Given the description of an element on the screen output the (x, y) to click on. 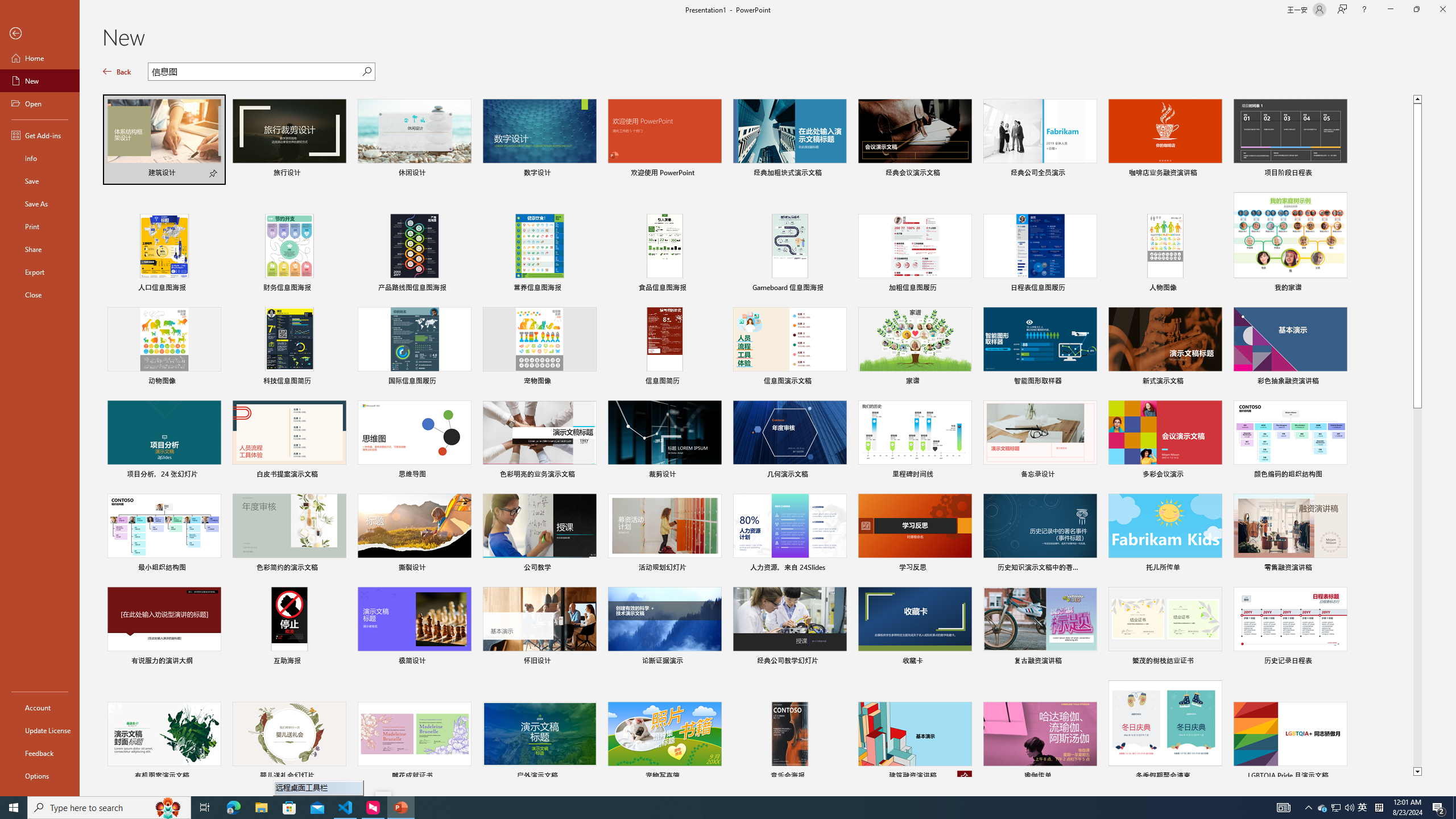
Feedback (40, 753)
Print (40, 225)
Get Add-ins (40, 134)
Unpin from list (964, 776)
